Given the description of an element on the screen output the (x, y) to click on. 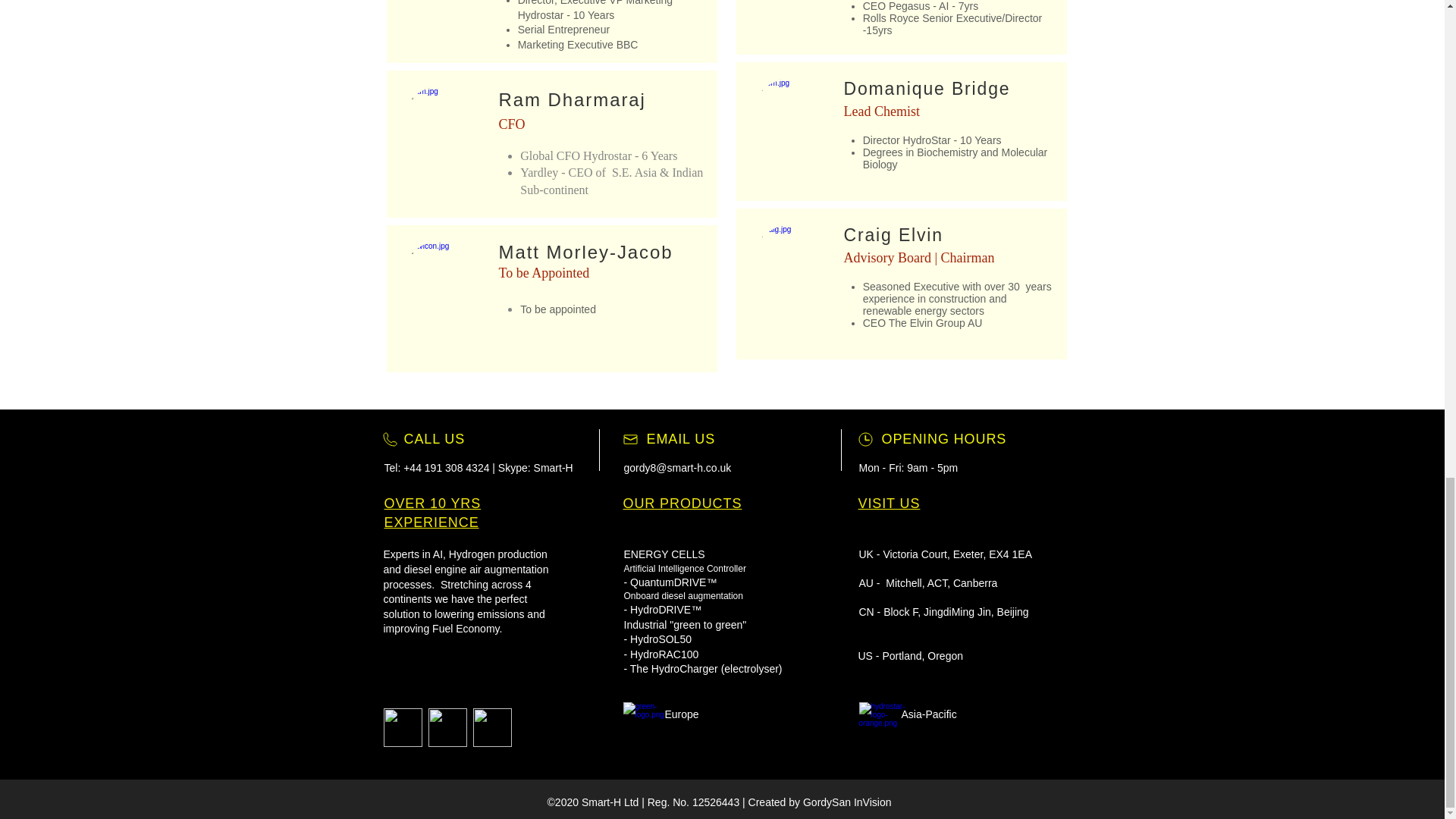
VISIT US (889, 503)
OUR PRODUCTS (682, 503)
OVER 10 YRS EXPERIENCE (432, 512)
